Given the description of an element on the screen output the (x, y) to click on. 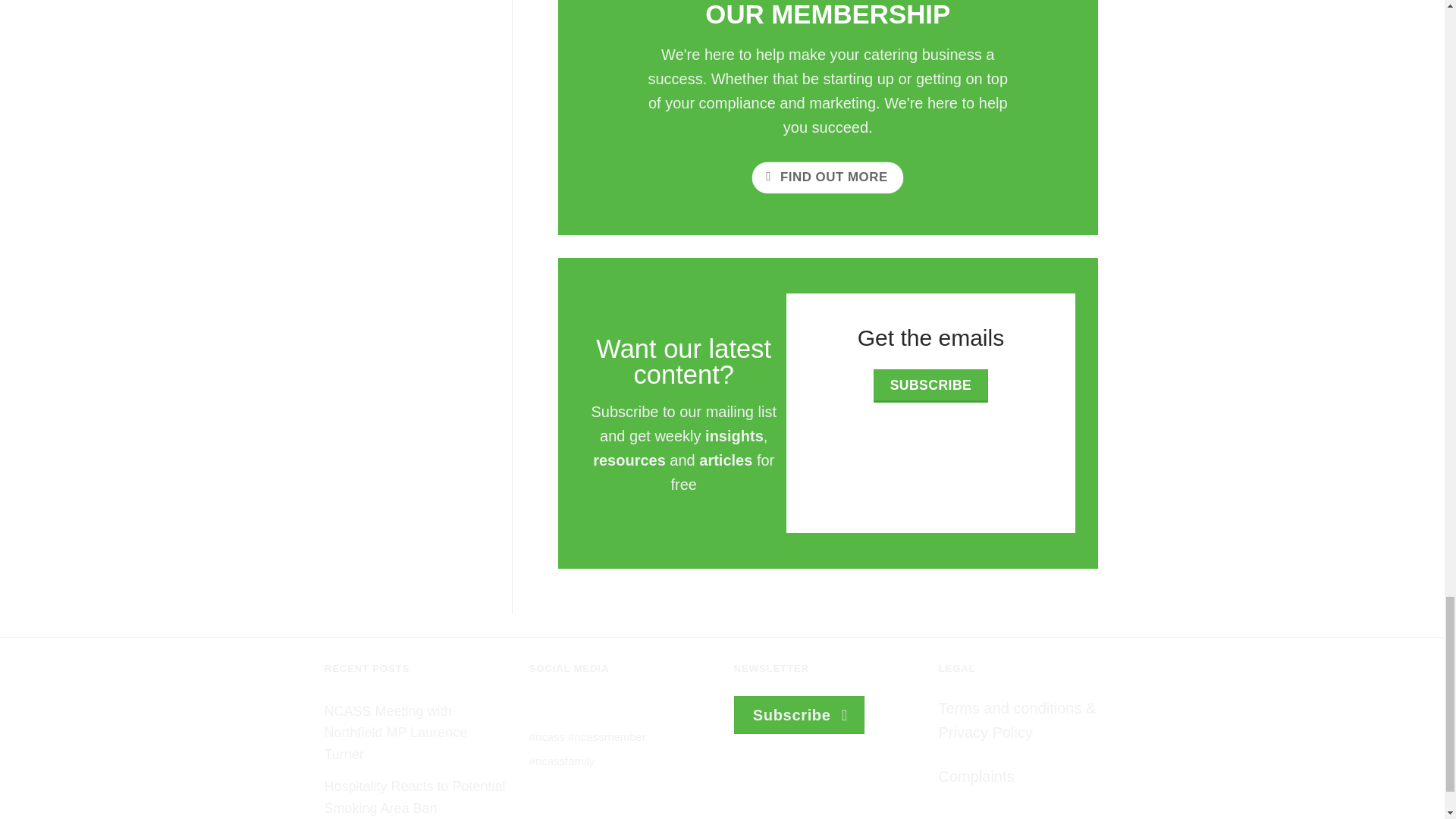
Follow on Instagram (567, 709)
Follow on Twitter (593, 709)
Follow on YouTube (618, 709)
Follow on Facebook (541, 709)
